Given the description of an element on the screen output the (x, y) to click on. 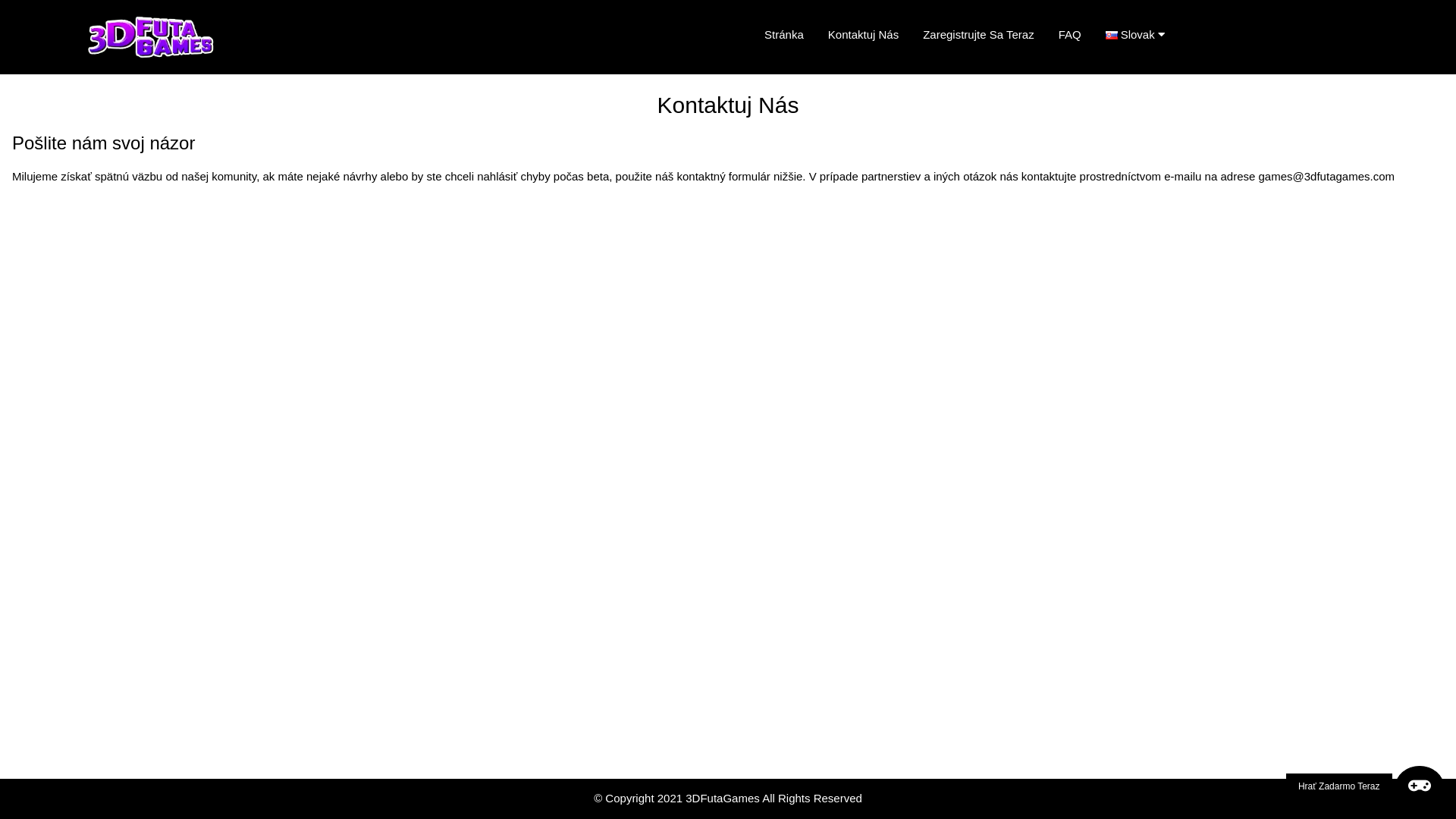
Slovak Element type: text (1140, 35)
FAQ Element type: text (1069, 35)
Zaregistrujte Sa Teraz Element type: text (977, 35)
